Given the description of an element on the screen output the (x, y) to click on. 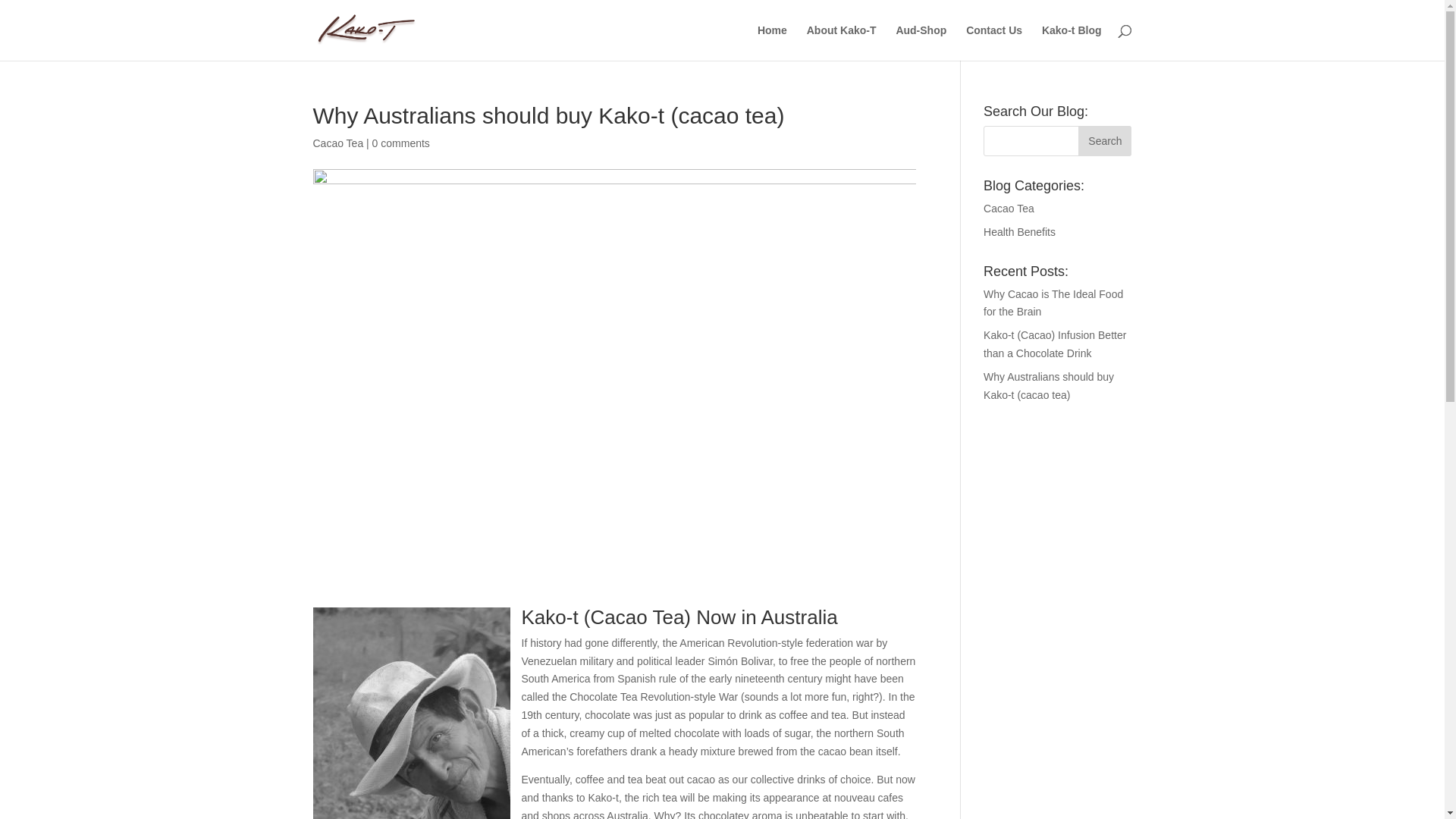
Kako-t (Cacao) Infusion Better than a Chocolate Drink Element type: text (1054, 344)
Health Benefits Element type: text (1019, 231)
0 comments Element type: text (400, 143)
Why Australians should buy Kako-t (cacao tea) Element type: text (1048, 385)
Why Cacao is The Ideal Food for the Brain Element type: text (1053, 303)
Kako-t Blog Element type: text (1071, 42)
Cacao Tea Element type: text (1008, 208)
Search Element type: text (1104, 140)
About Kako-T Element type: text (841, 42)
Cacao Tea Element type: text (337, 143)
Aud-Shop Element type: text (920, 42)
Home Element type: text (772, 42)
Contact Us Element type: text (994, 42)
